Given the description of an element on the screen output the (x, y) to click on. 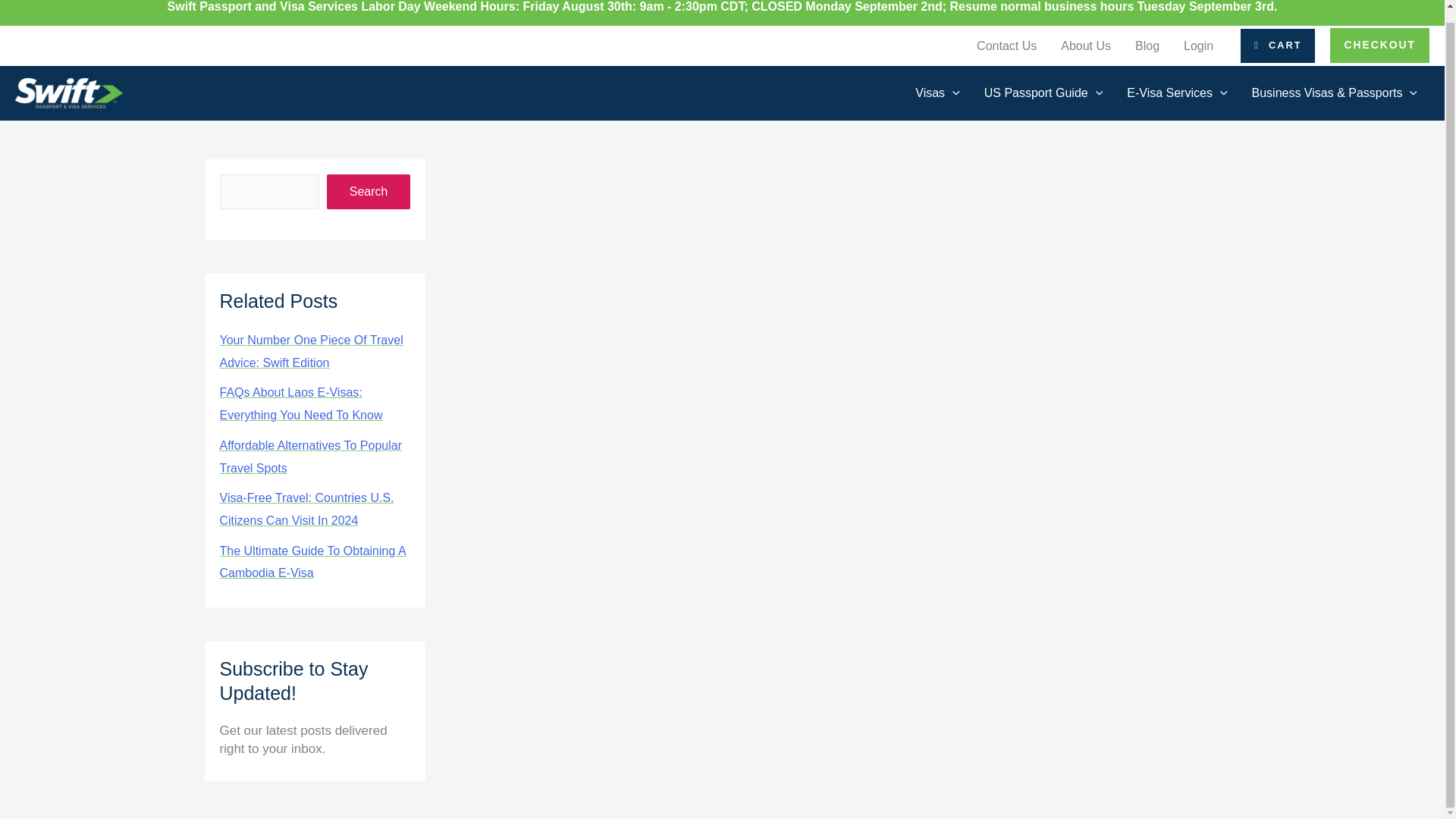
Login (1198, 46)
Contact Us (1005, 46)
Blog (1147, 46)
CART (1277, 45)
CHECKOUT (1379, 45)
E-Visa Services (1177, 92)
About Us (1085, 46)
Visas (936, 92)
US Passport Guide (1043, 92)
